Given the description of an element on the screen output the (x, y) to click on. 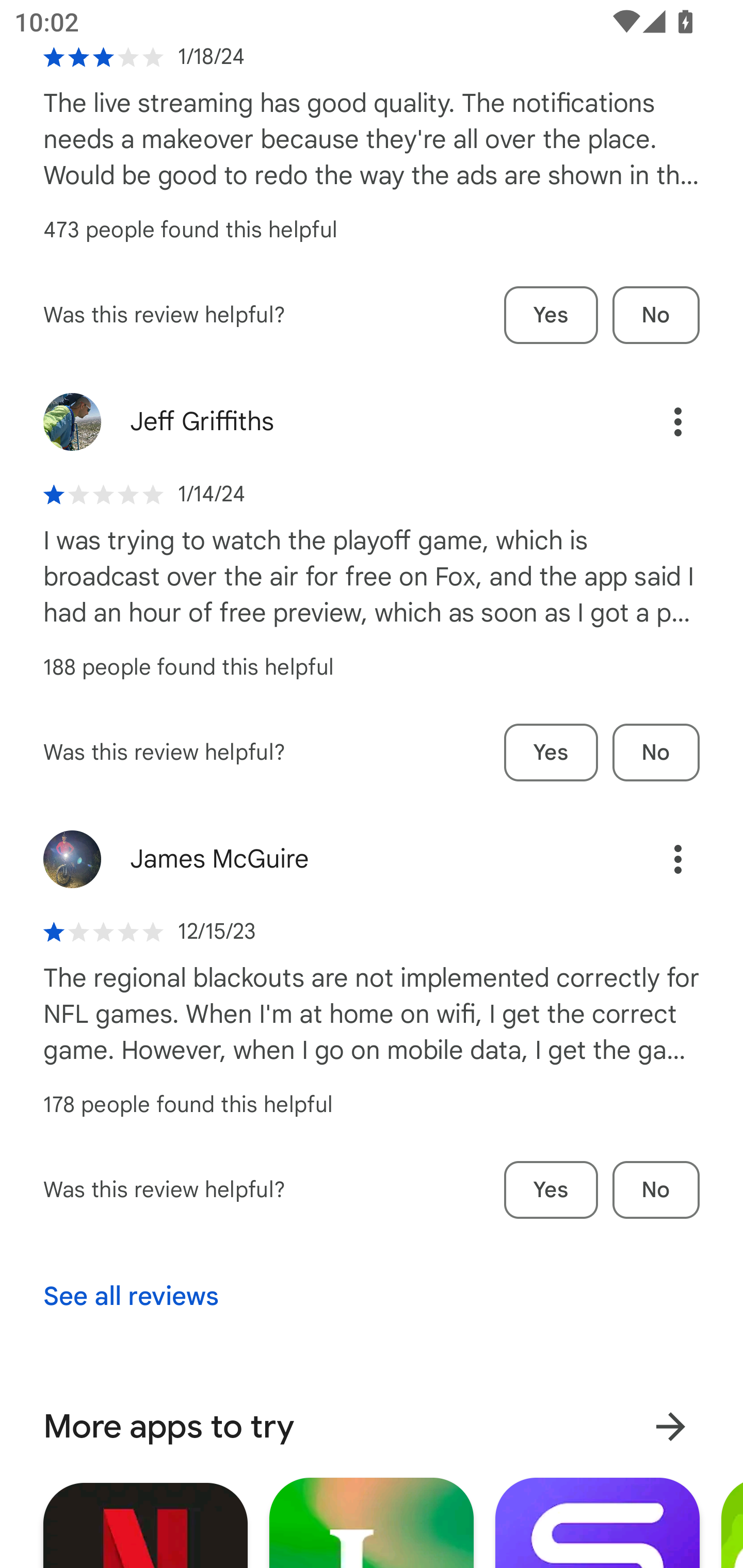
Yes (550, 315)
No (655, 315)
Options (655, 421)
Yes (550, 752)
No (655, 752)
Options (655, 859)
Yes (550, 1190)
No (655, 1190)
See all reviews (130, 1296)
More apps to try More results for More apps to try (371, 1426)
More results for More apps to try (670, 1426)
